Given the description of an element on the screen output the (x, y) to click on. 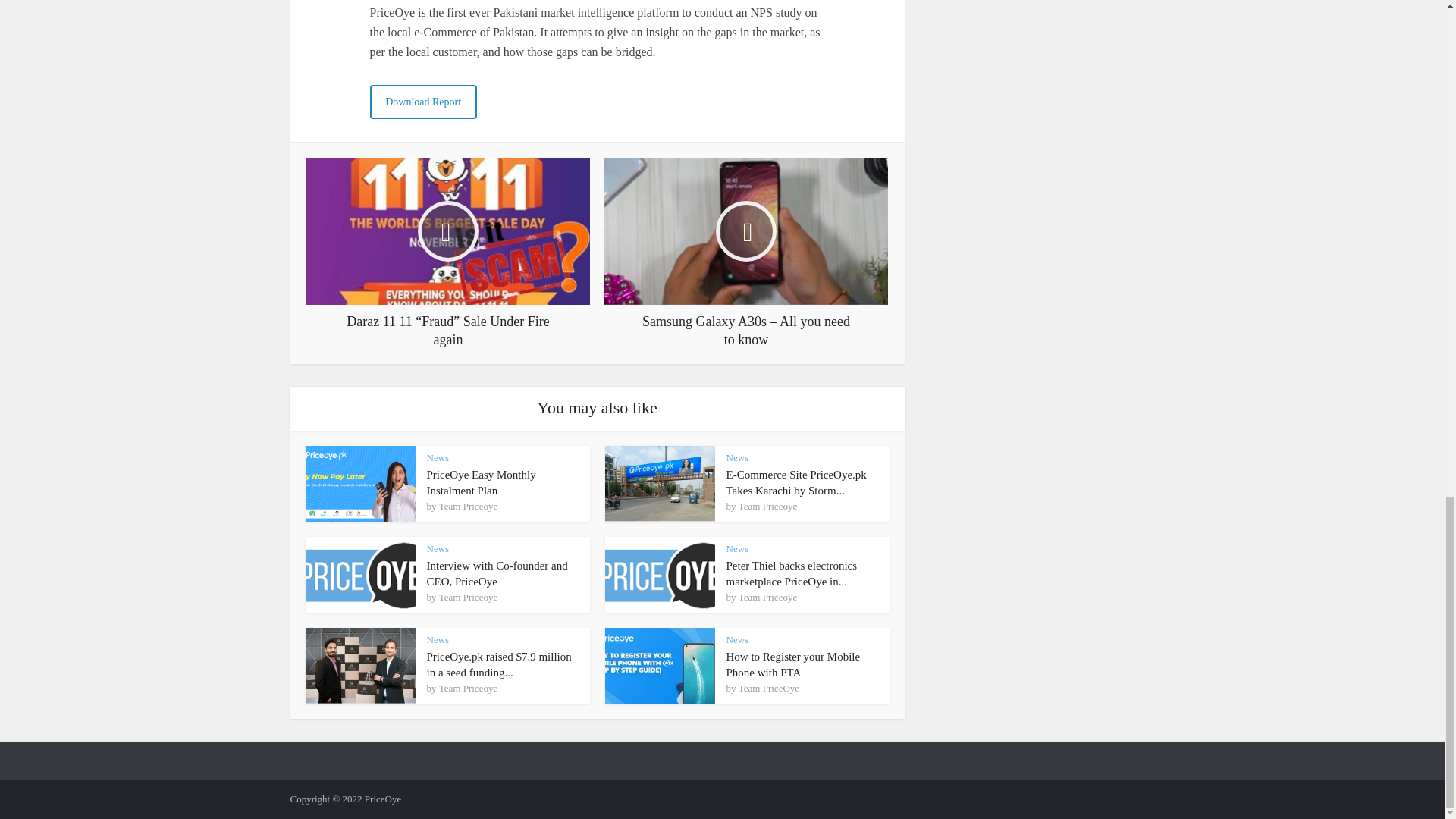
News (737, 457)
Team Priceoye (468, 506)
Download Report (423, 101)
PriceOye Easy Monthly Instalment Plan (480, 482)
News (437, 457)
Team Priceoye (767, 506)
How to Register your Mobile Phone with PTA (793, 664)
E-Commerce Site PriceOye.pk Takes Karachi by Storm... (796, 482)
Interview with Co-founder and CEO, PriceOye (496, 573)
